Given the description of an element on the screen output the (x, y) to click on. 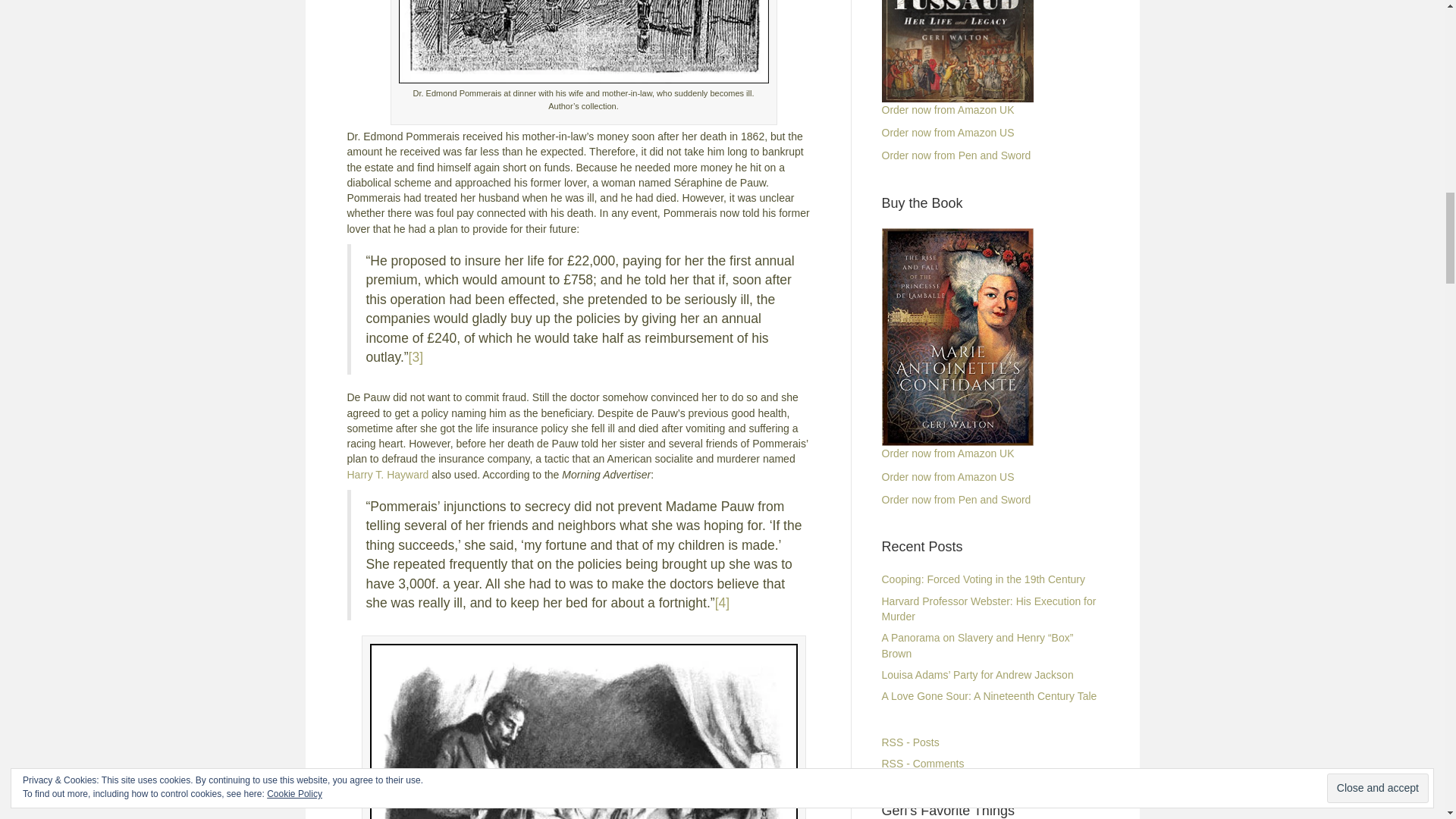
Harry T. Hayward (388, 474)
Subscribe to posts (909, 741)
Subscribe to comments (921, 763)
